Given the description of an element on the screen output the (x, y) to click on. 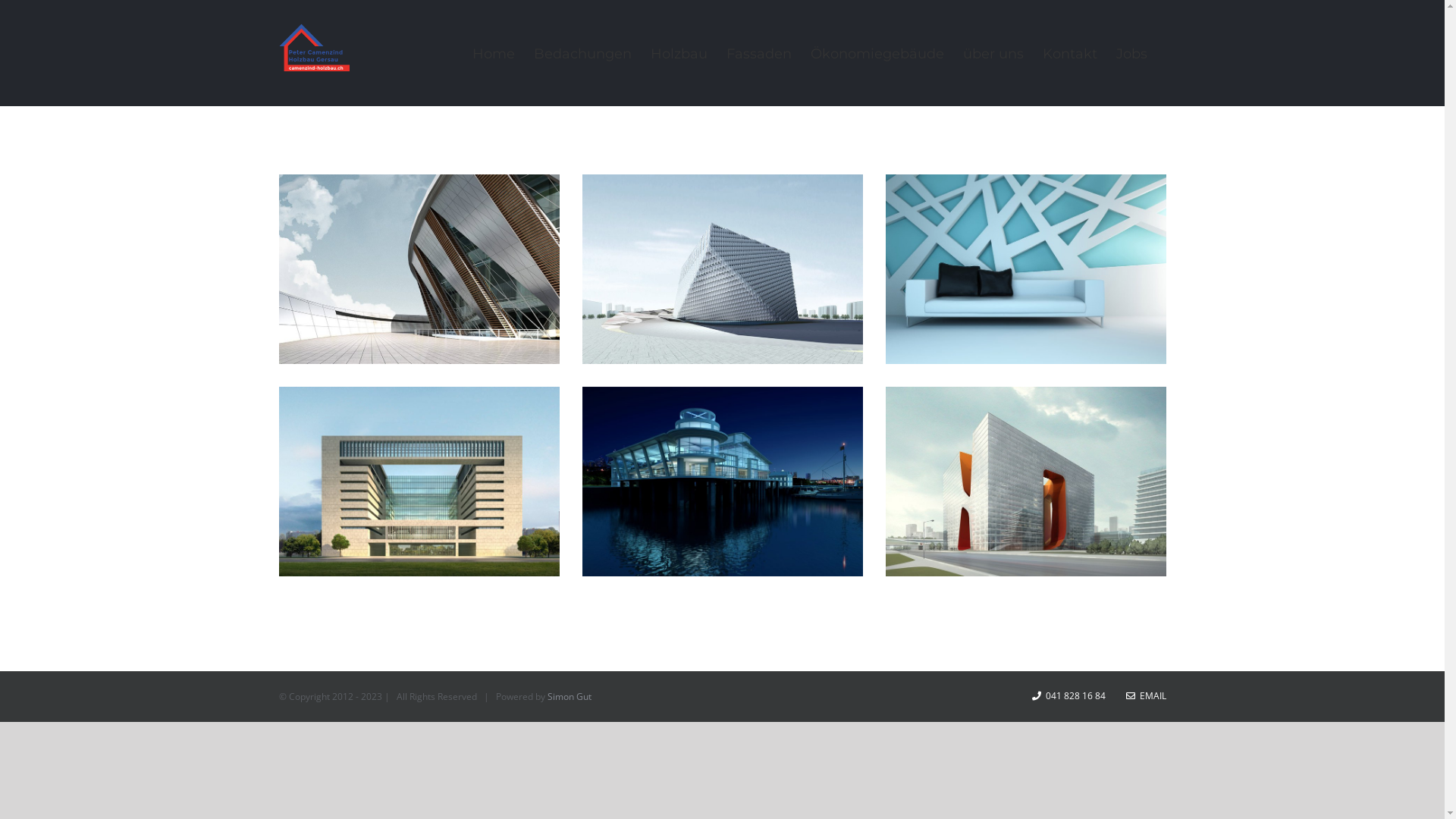
Bedachungen Element type: text (582, 53)
Fassaden Element type: text (758, 53)
Kontakt Element type: text (1068, 53)
Simon Gut Element type: text (569, 696)
Holzbau Element type: text (678, 53)
Jobs Element type: text (1131, 53)
  EMAIL Element type: text (1145, 695)
Home Element type: text (492, 53)
